Given the description of an element on the screen output the (x, y) to click on. 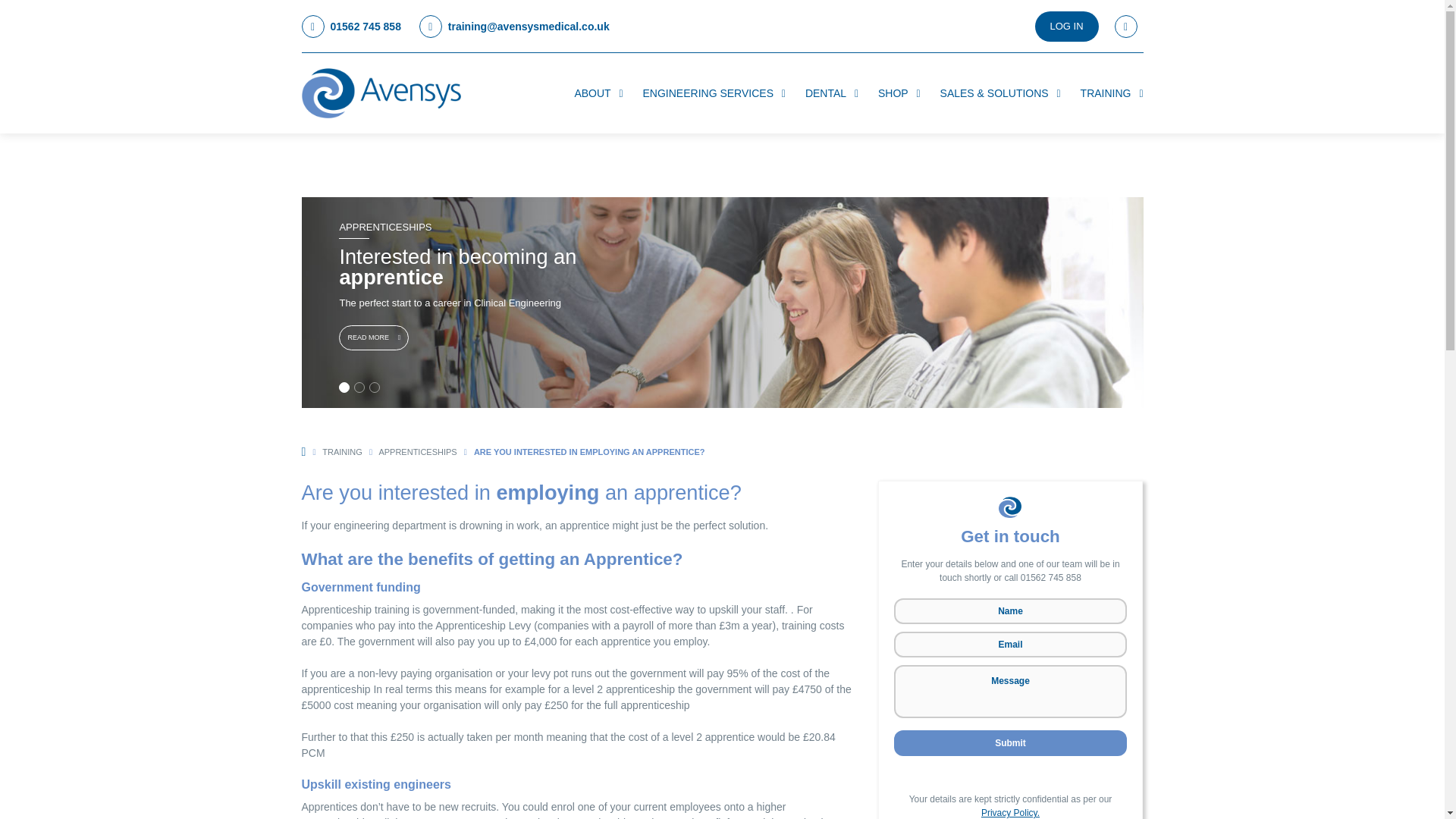
ABOUT (598, 93)
Submit (1009, 742)
LOG IN (1067, 26)
SHOP (898, 93)
ENGINEERING SERVICES (714, 93)
DENTAL (832, 93)
01562 745 858 (351, 26)
